Given the description of an element on the screen output the (x, y) to click on. 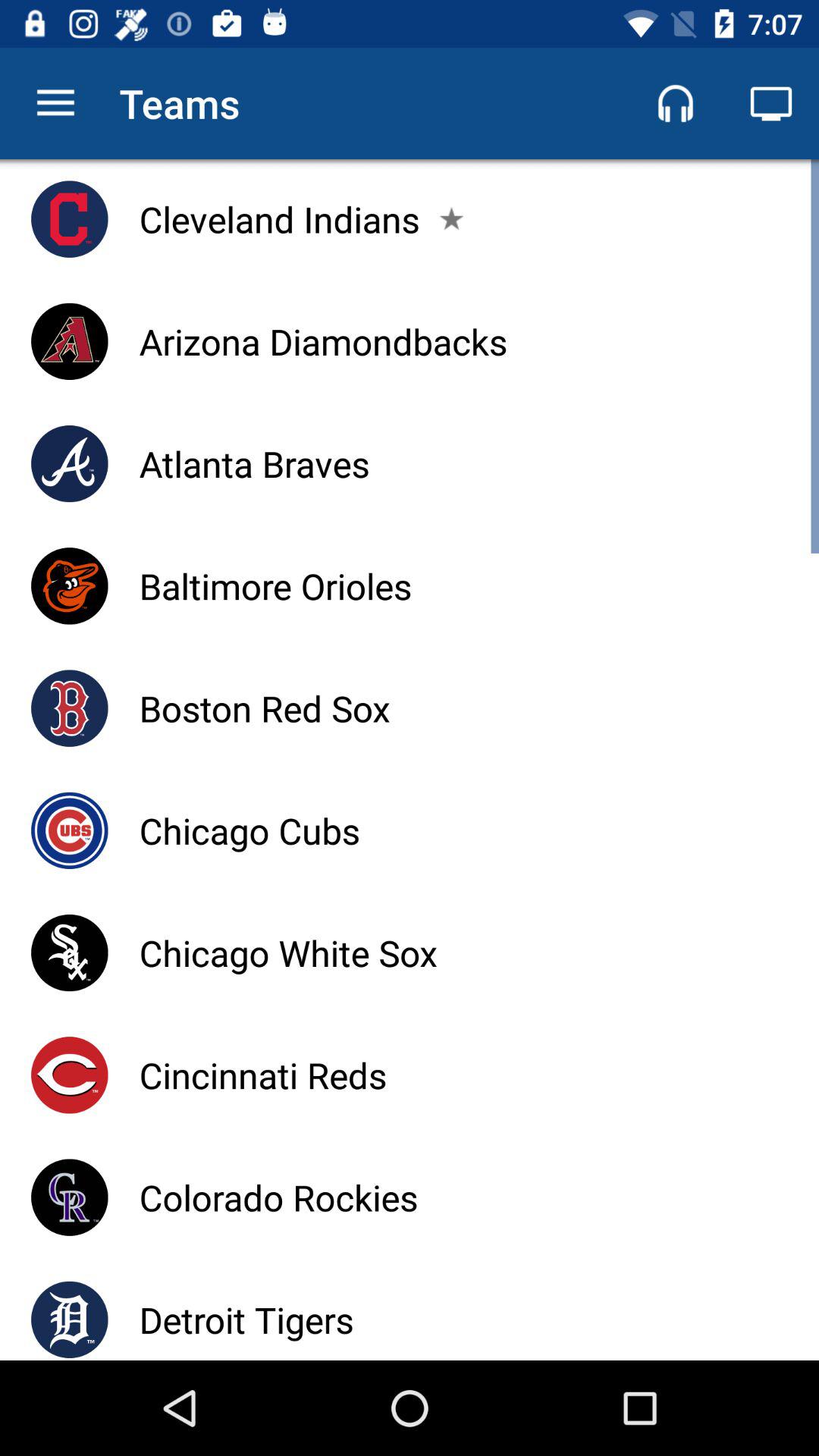
launch the item to the left of teams icon (55, 103)
